Given the description of an element on the screen output the (x, y) to click on. 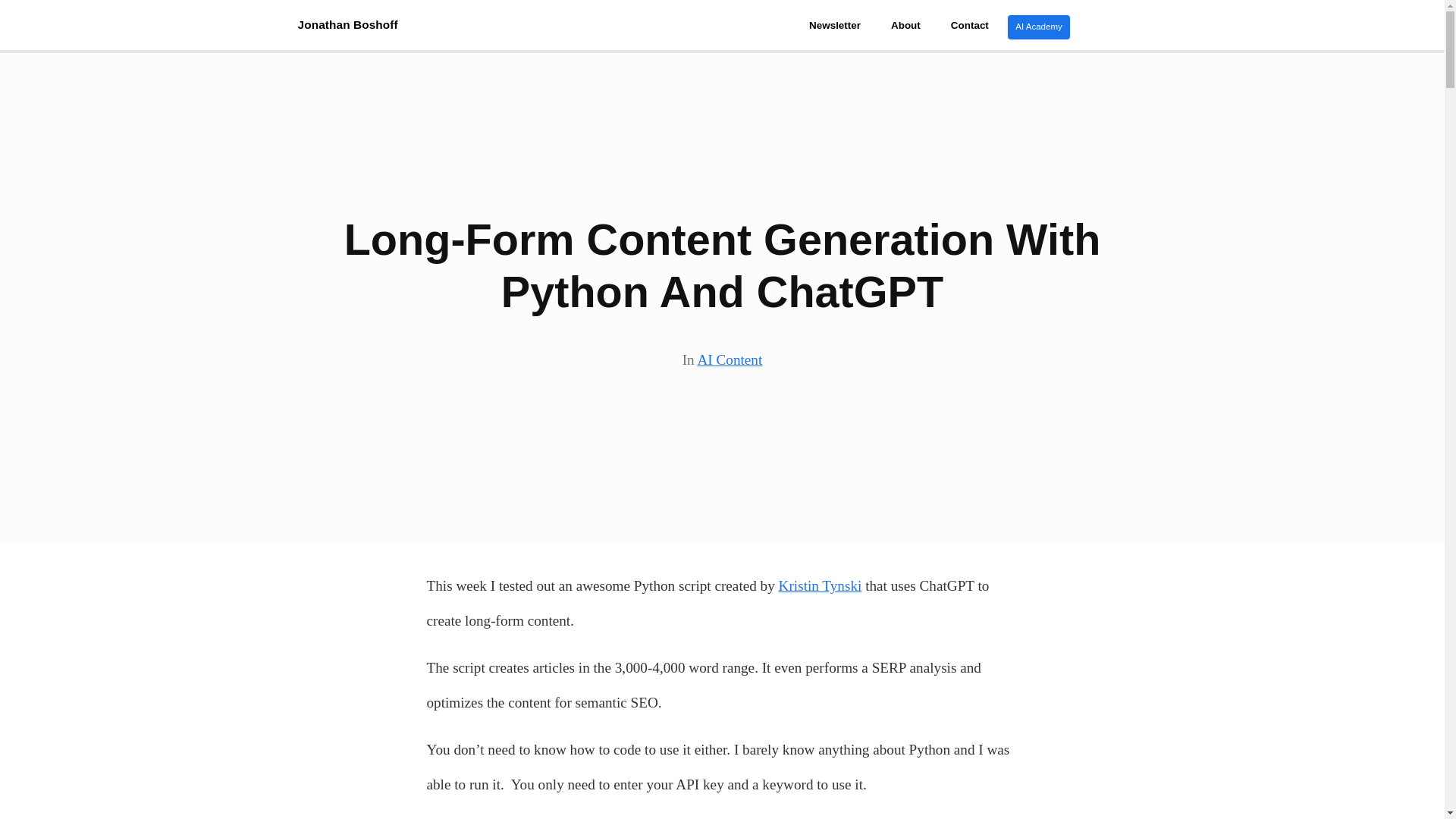
Jonathan Boshoff (347, 24)
About (906, 25)
Contact (970, 25)
Newsletter (834, 25)
AI Academy (1037, 27)
